Given the description of an element on the screen output the (x, y) to click on. 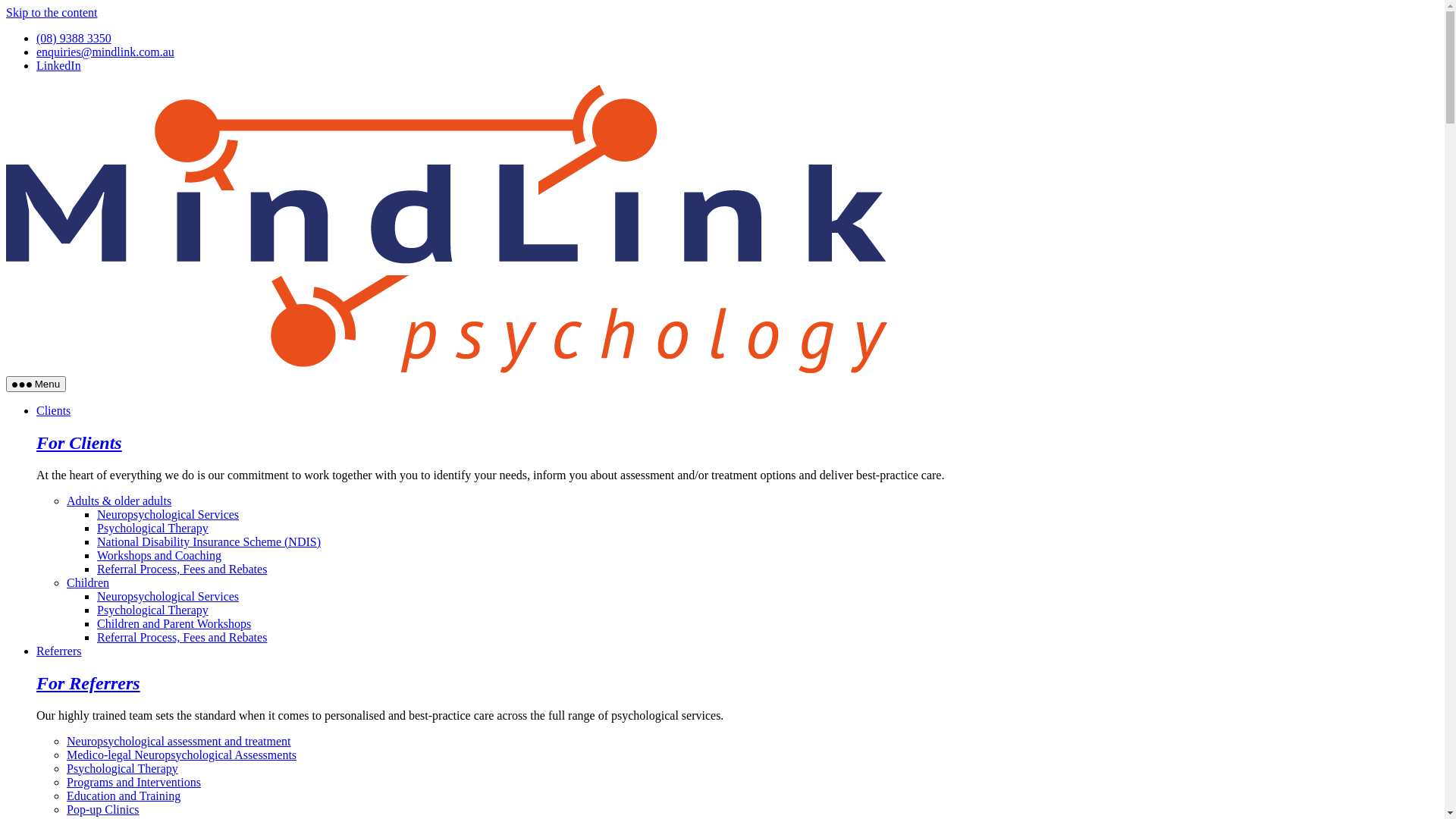
Pop-up Clinics Element type: text (102, 809)
Neuropsychological Services Element type: text (167, 514)
(08) 9388 3350 Element type: text (73, 37)
Clients Element type: text (53, 410)
Skip to the content Element type: text (51, 12)
Programs and Interventions Element type: text (133, 781)
Menu Element type: text (35, 384)
Children Element type: text (87, 582)
Adults & older adults Element type: text (118, 500)
Education and Training Element type: text (123, 795)
Medico-legal Neuropsychological Assessments Element type: text (181, 754)
enquiries@mindlink.com.au Element type: text (105, 51)
National Disability Insurance Scheme (NDIS) Element type: text (208, 541)
Neuropsychological assessment and treatment Element type: text (178, 740)
Referral Process, Fees and Rebates Element type: text (181, 568)
For Clients Element type: text (79, 442)
Psychological Therapy Element type: text (122, 768)
Referral Process, Fees and Rebates Element type: text (181, 636)
LinkedIn Element type: text (58, 65)
For Referrers Element type: text (88, 683)
Referrers Element type: text (58, 650)
Children and Parent Workshops Element type: text (174, 623)
Psychological Therapy Element type: text (152, 609)
Psychological Therapy Element type: text (152, 527)
Neuropsychological Services Element type: text (167, 595)
Workshops and Coaching Element type: text (159, 555)
